Given the description of an element on the screen output the (x, y) to click on. 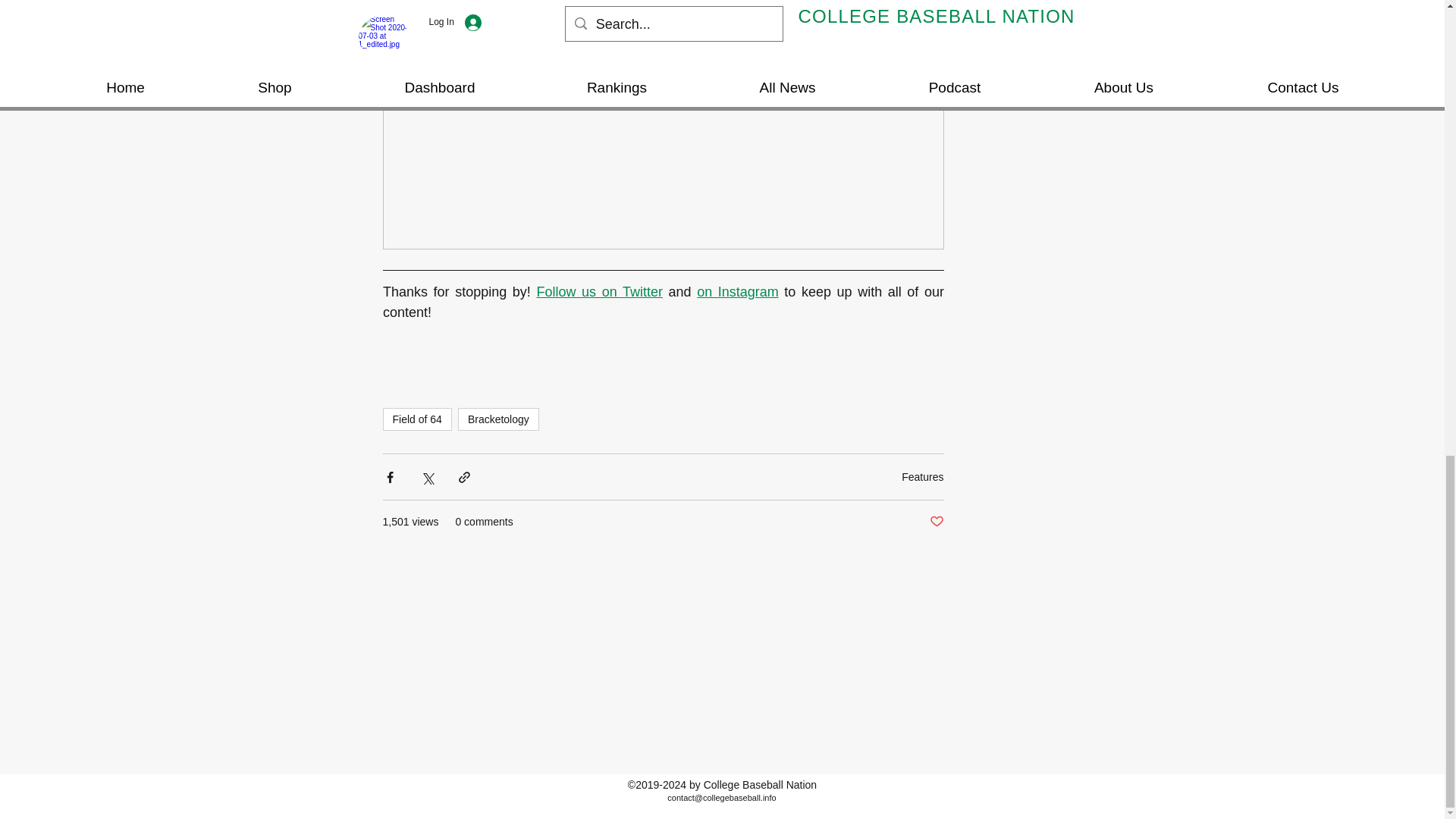
Post not marked as liked (936, 521)
Features (922, 476)
Bracketology (498, 418)
Field of 64 (416, 418)
Follow us on Twitter (598, 291)
on Instagram (737, 291)
